Given the description of an element on the screen output the (x, y) to click on. 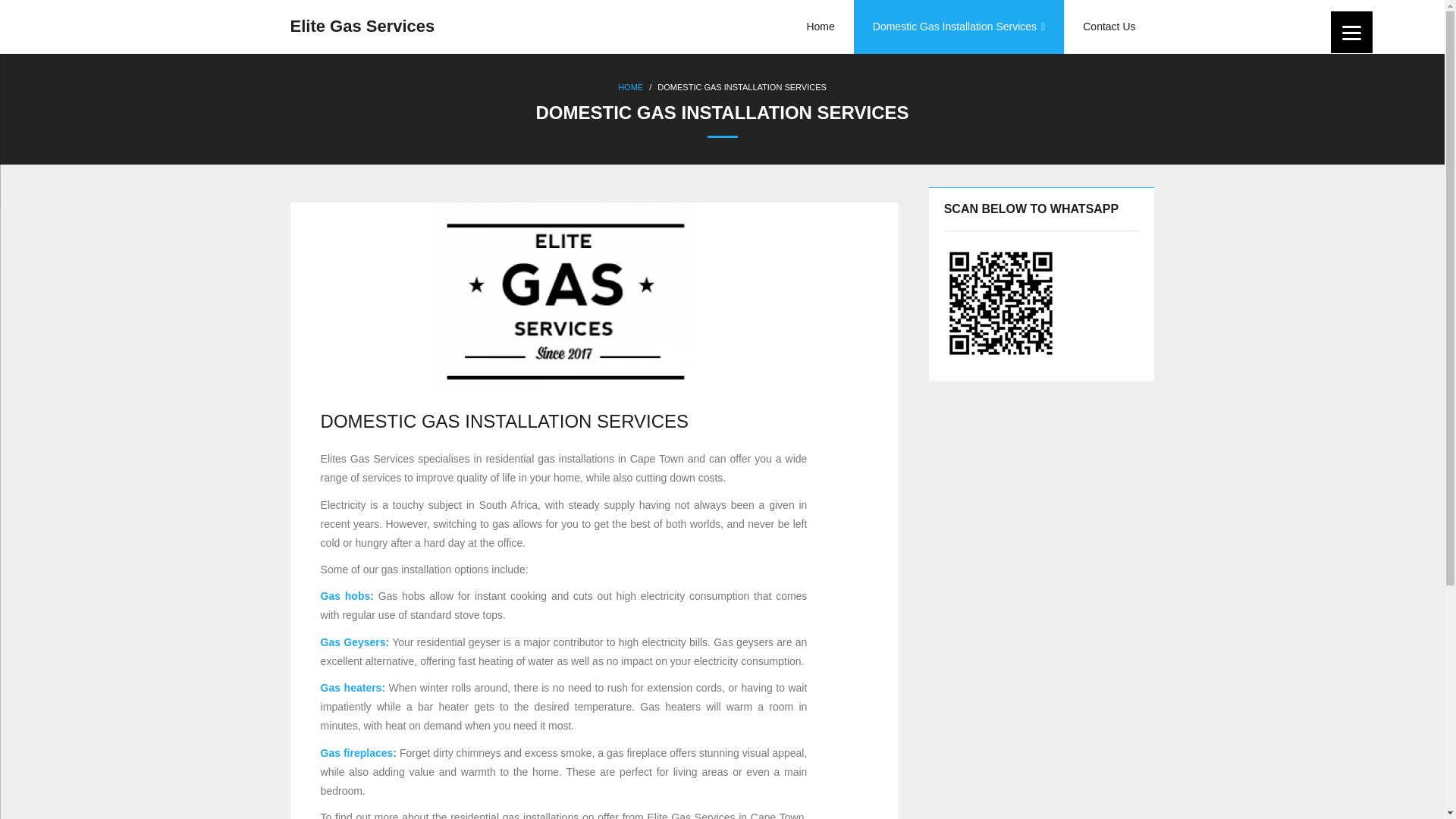
Contact Us (1109, 27)
Gas hobs (345, 595)
Gas fireplaces (356, 752)
Domestic Gas Installation Services (958, 27)
Elite Gas Services (361, 26)
Gas Geysers (352, 642)
Gas heaters: (352, 687)
Elite Gas Services (361, 26)
Home (820, 27)
HOME (630, 86)
